Given the description of an element on the screen output the (x, y) to click on. 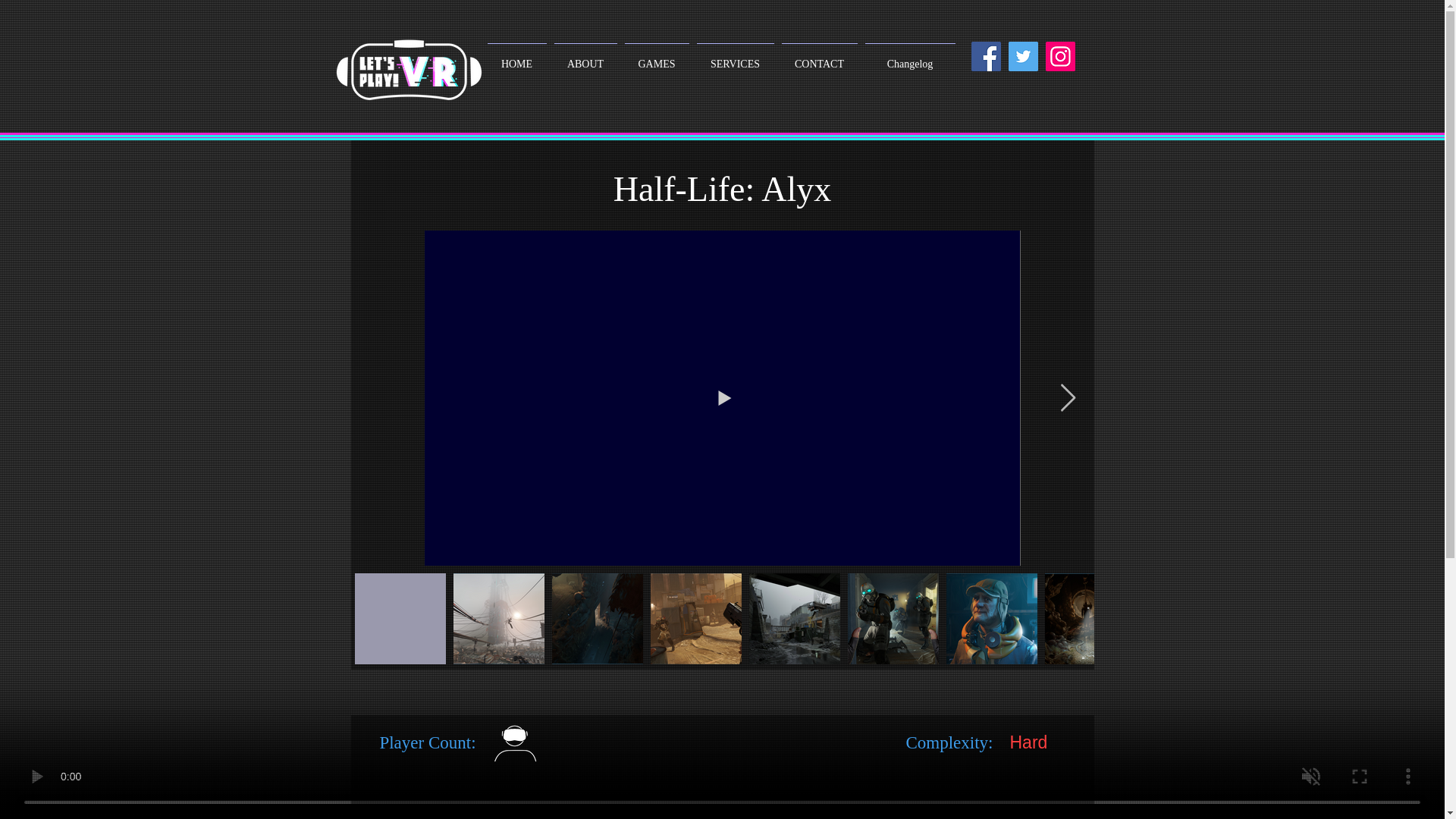
HOME (516, 57)
Changelog (910, 57)
SinglePlayerIcons.png (675, 754)
CONTACT (819, 57)
SERVICES (735, 57)
ABOUT (585, 57)
GAMES (656, 57)
